Given the description of an element on the screen output the (x, y) to click on. 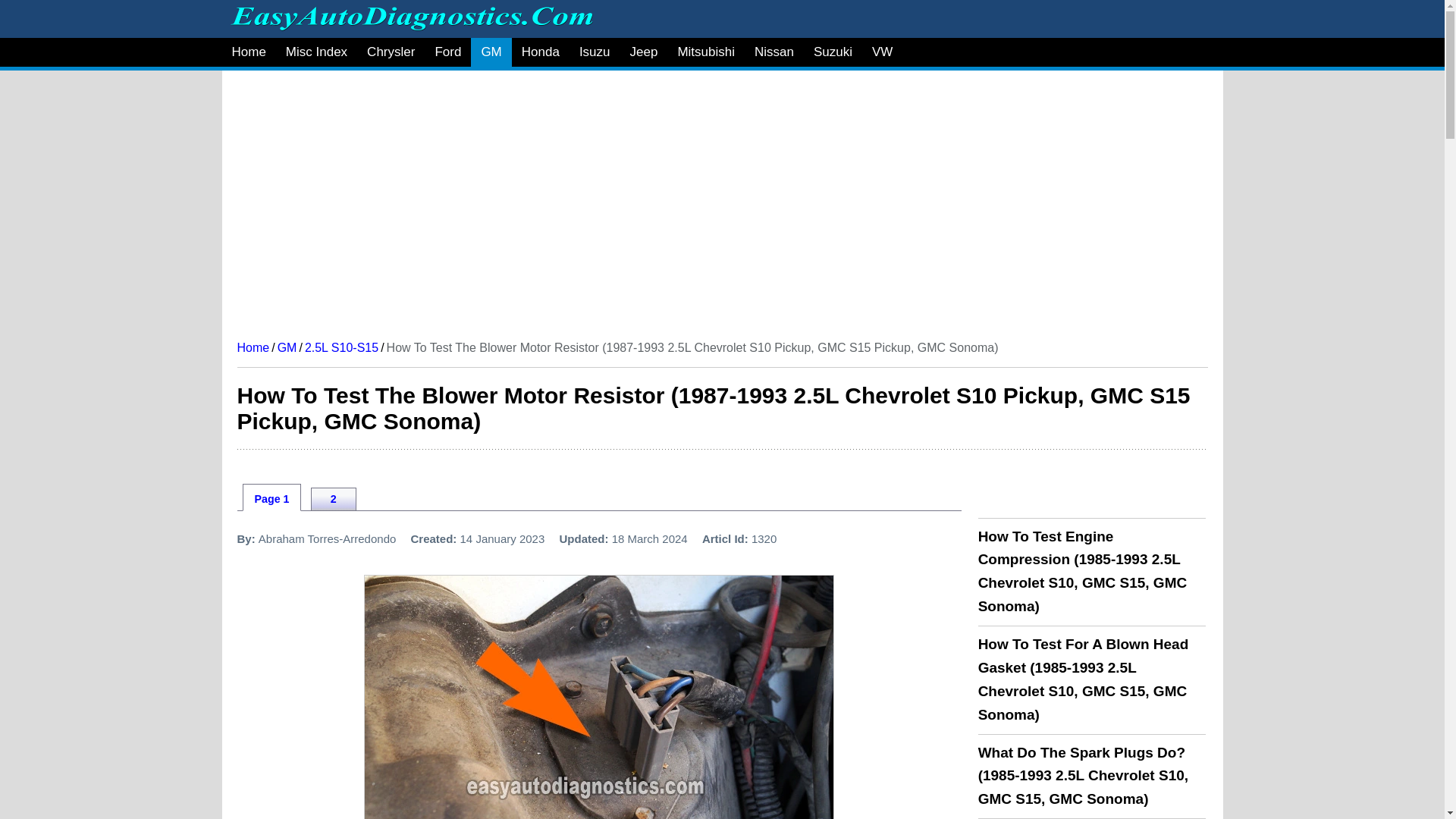
GM (490, 51)
Chrysler (390, 51)
Home (248, 51)
Ford (447, 51)
Misc Index (316, 51)
